Given the description of an element on the screen output the (x, y) to click on. 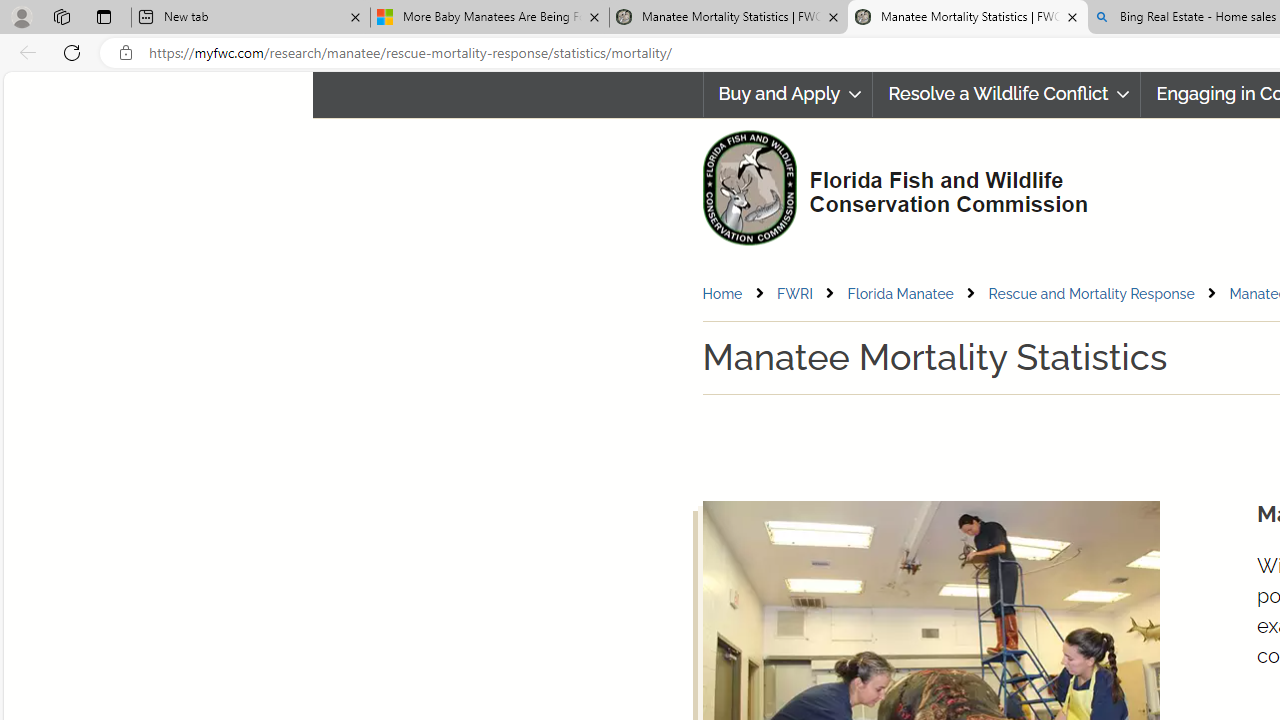
Florida Manatee (916, 293)
Home (737, 293)
FWC Logo Florida Fish and Wildlife Conservation Commission (886, 185)
Manatee Mortality Statistics | FWC (967, 17)
